Given the description of an element on the screen output the (x, y) to click on. 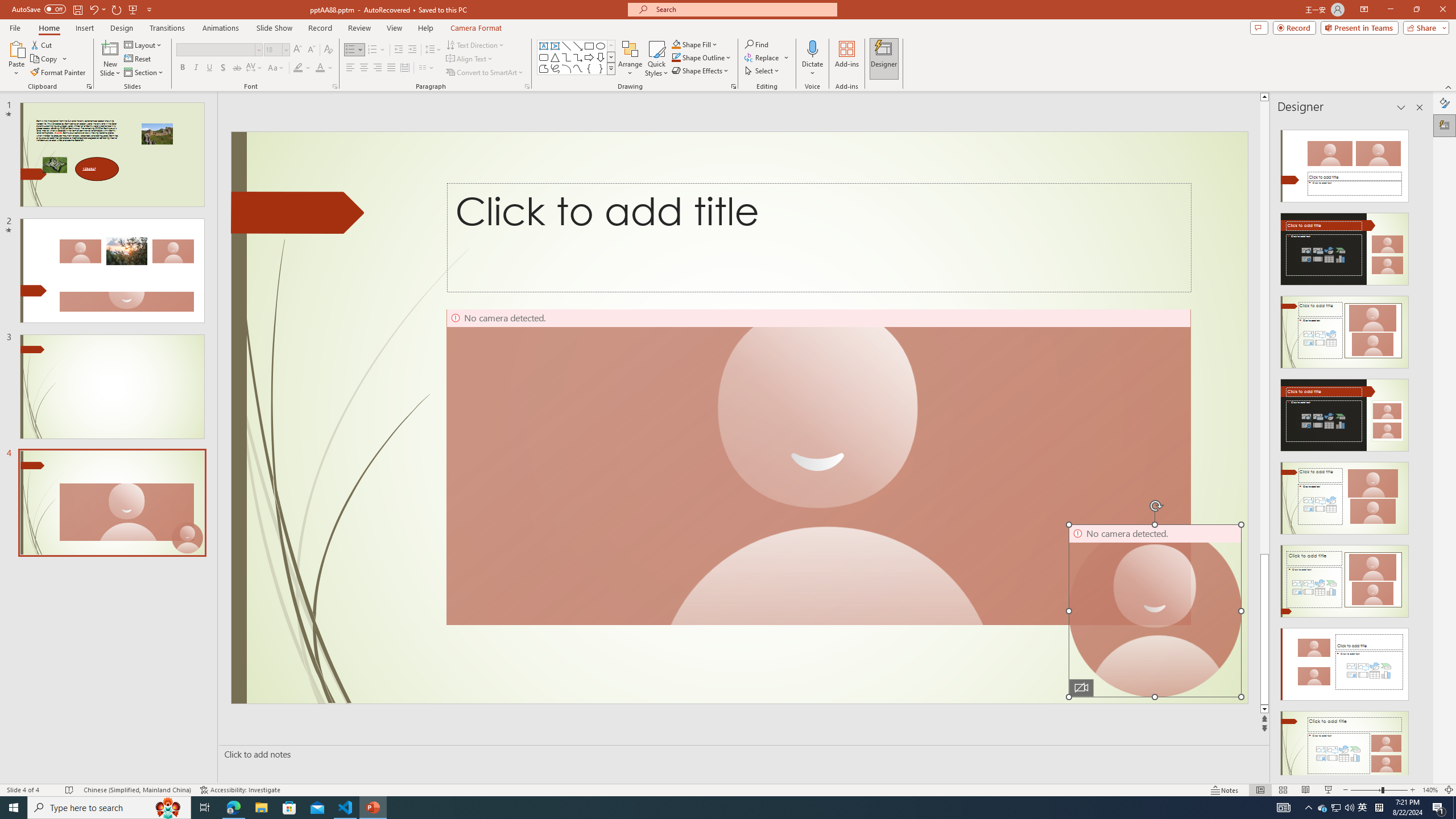
Format Background (1444, 102)
Zoom 140% (1430, 790)
